Given the description of an element on the screen output the (x, y) to click on. 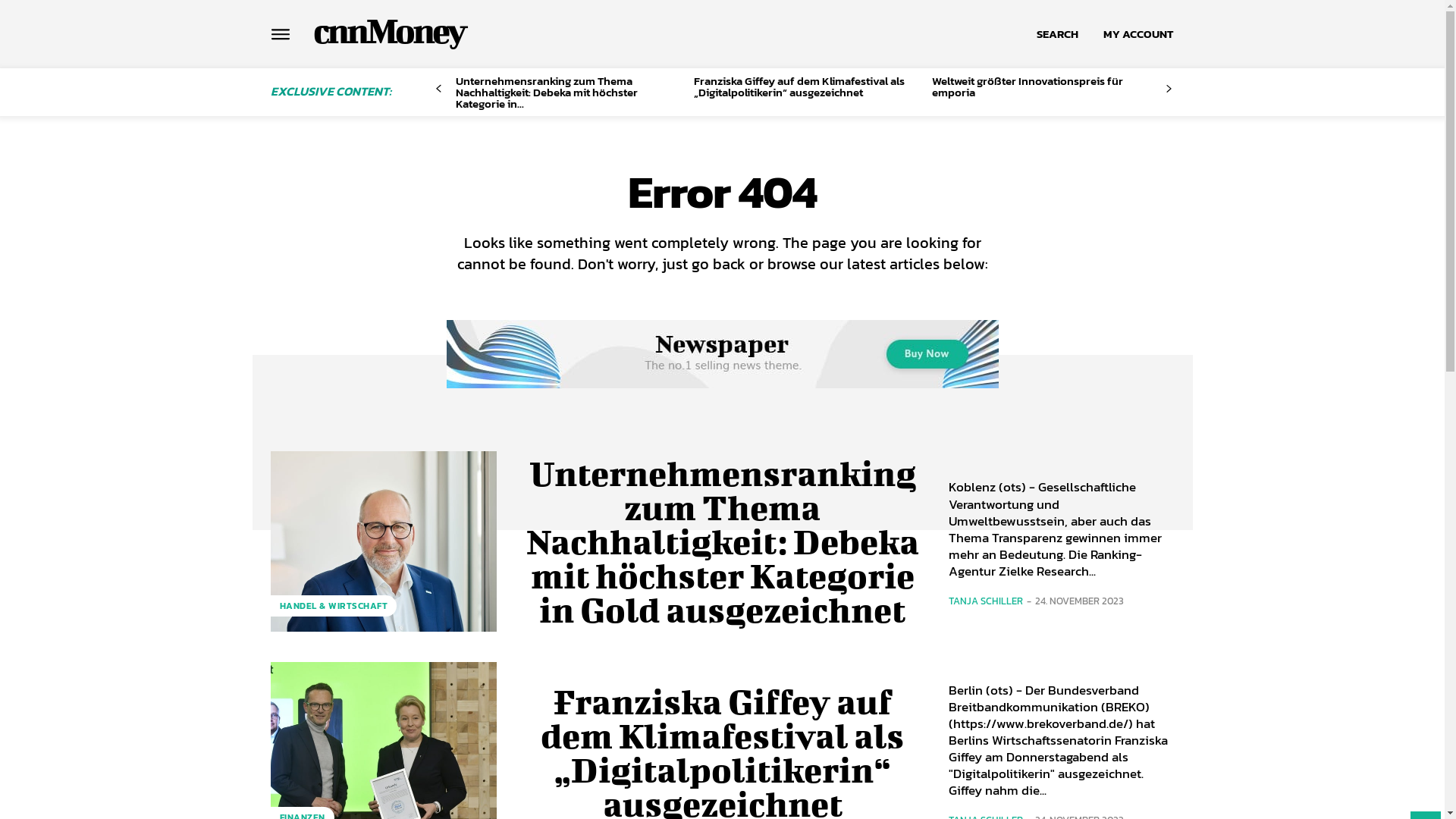
TANJA SCHILLER Element type: text (984, 600)
SEARCH Element type: text (1057, 34)
cnnMoney Element type: text (388, 30)
HANDEL & WIRTSCHAFT Element type: text (332, 605)
